Given the description of an element on the screen output the (x, y) to click on. 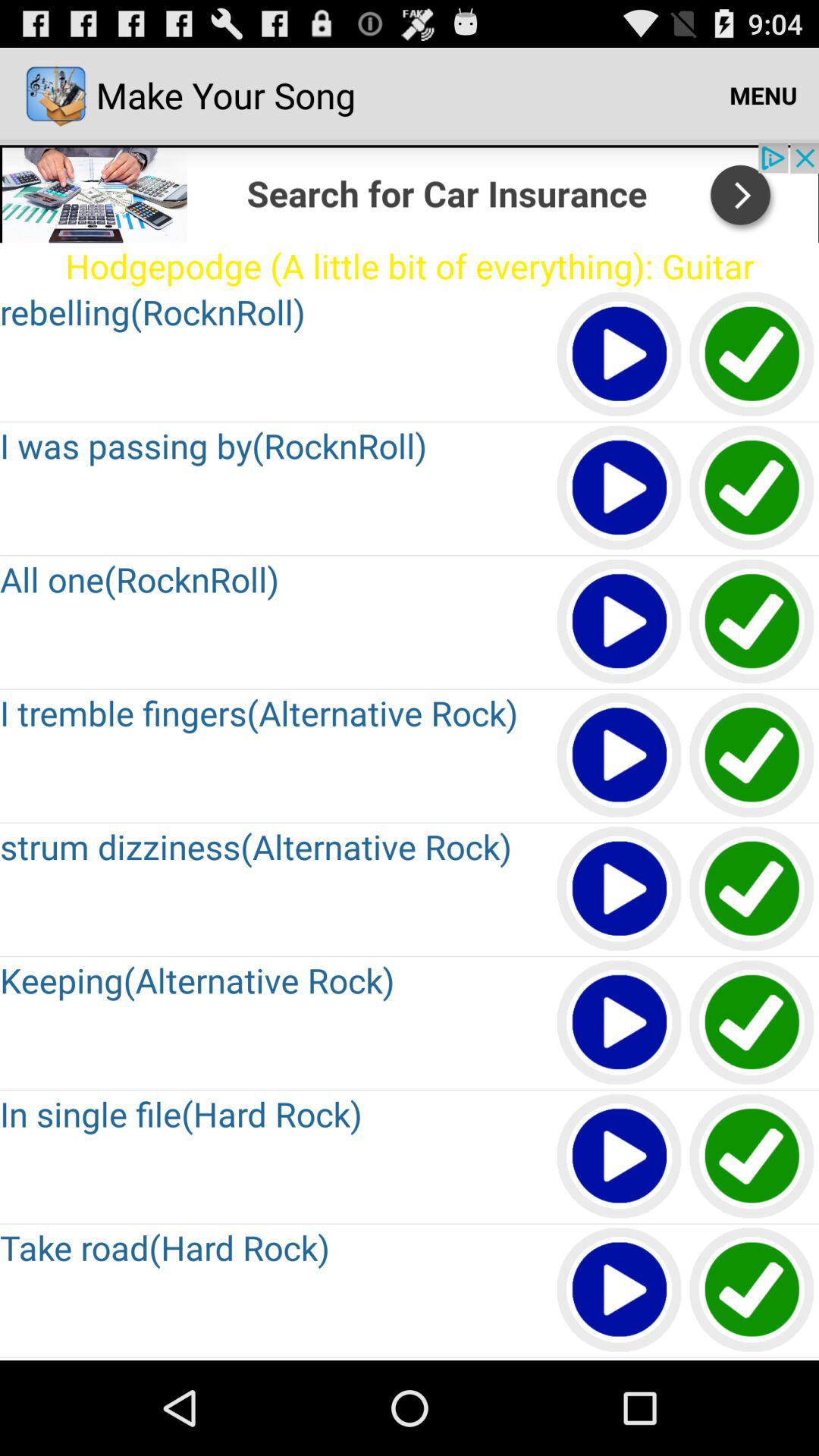
to select a song (752, 488)
